Given the description of an element on the screen output the (x, y) to click on. 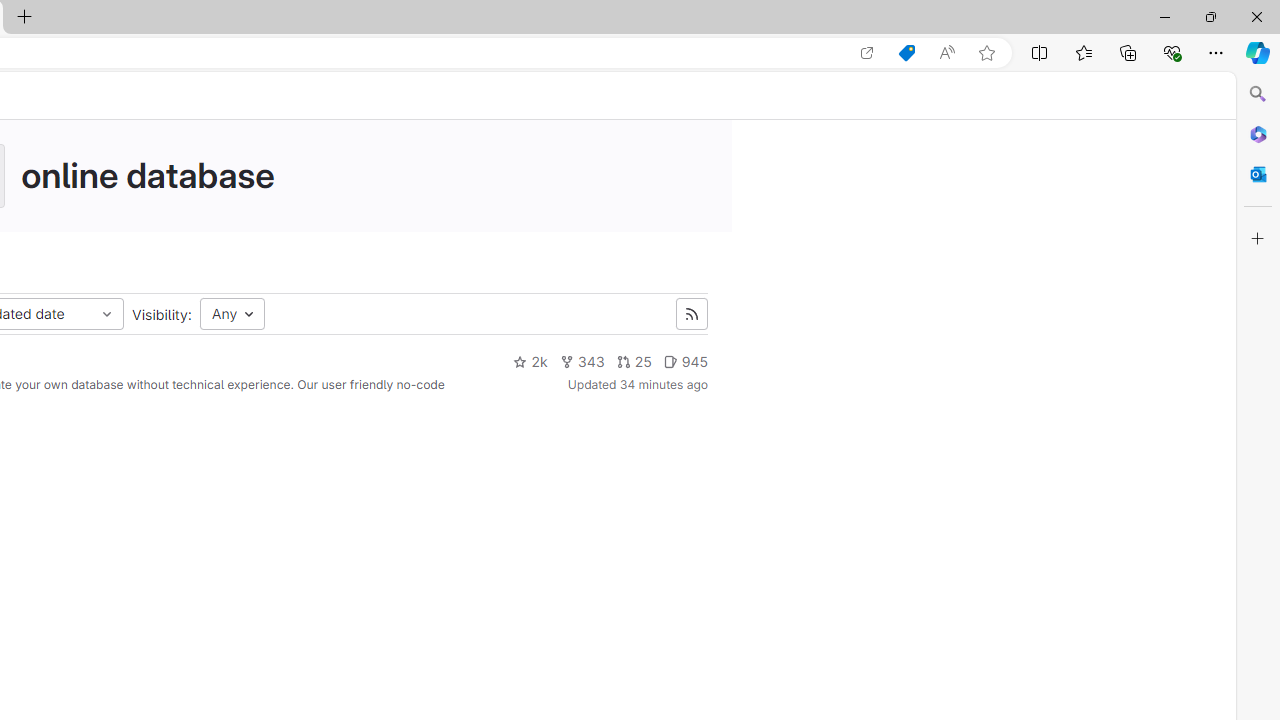
Close Outlook pane (1258, 174)
Any (232, 314)
Class: s16 dropdown-menu-toggle-icon (106, 314)
Subscribe to the new projects feed (691, 314)
Customize (1258, 239)
2k (530, 361)
Class: s16 gl-icon gl-button-icon  (691, 314)
343 (582, 361)
Open in app (867, 53)
